Given the description of an element on the screen output the (x, y) to click on. 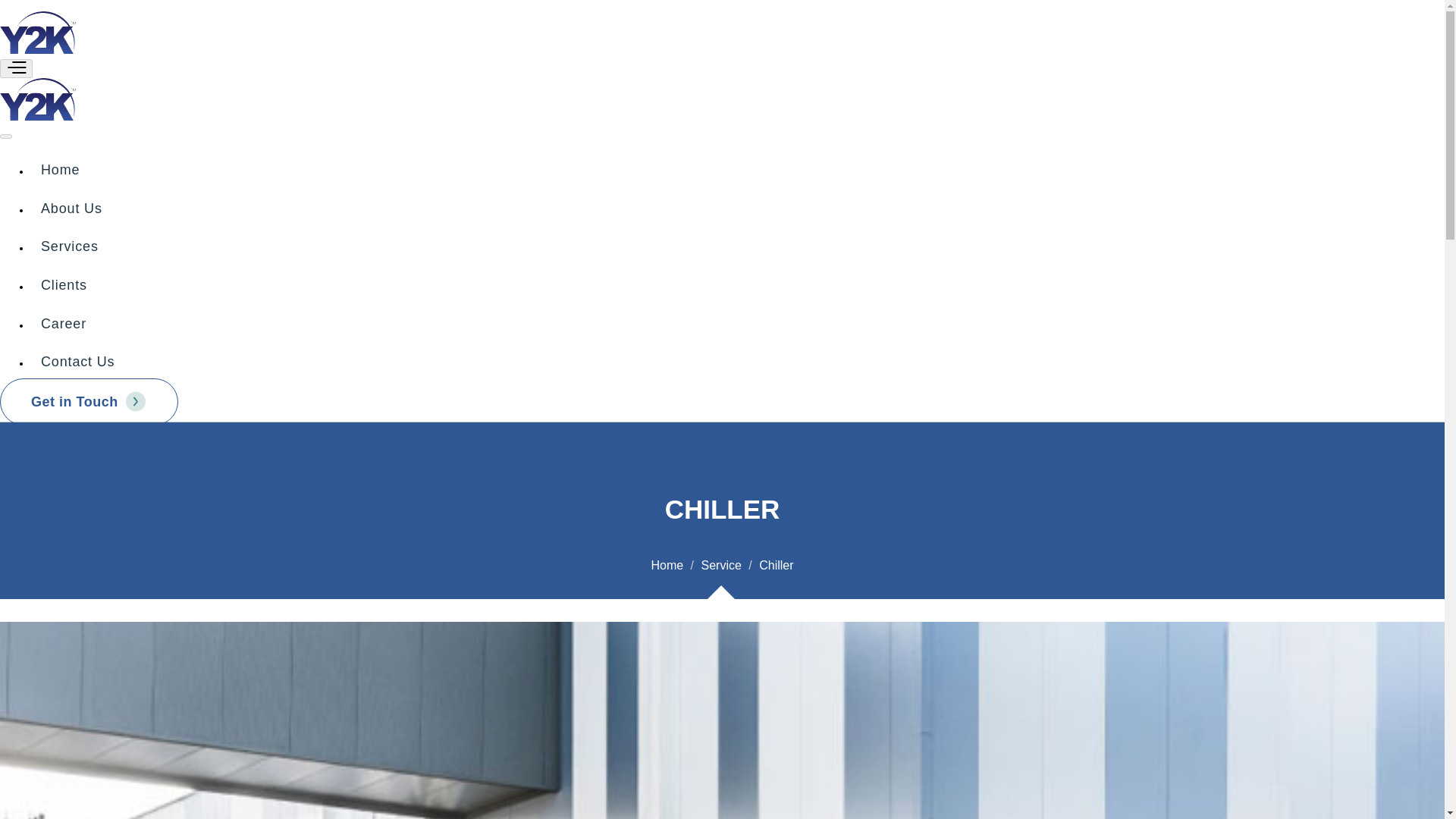
Service (720, 564)
About Us (73, 208)
Career (65, 322)
Home (61, 169)
Clients (65, 284)
Home (666, 564)
Services (70, 246)
Contact Us (78, 361)
Get in Touch (88, 401)
